Given the description of an element on the screen output the (x, y) to click on. 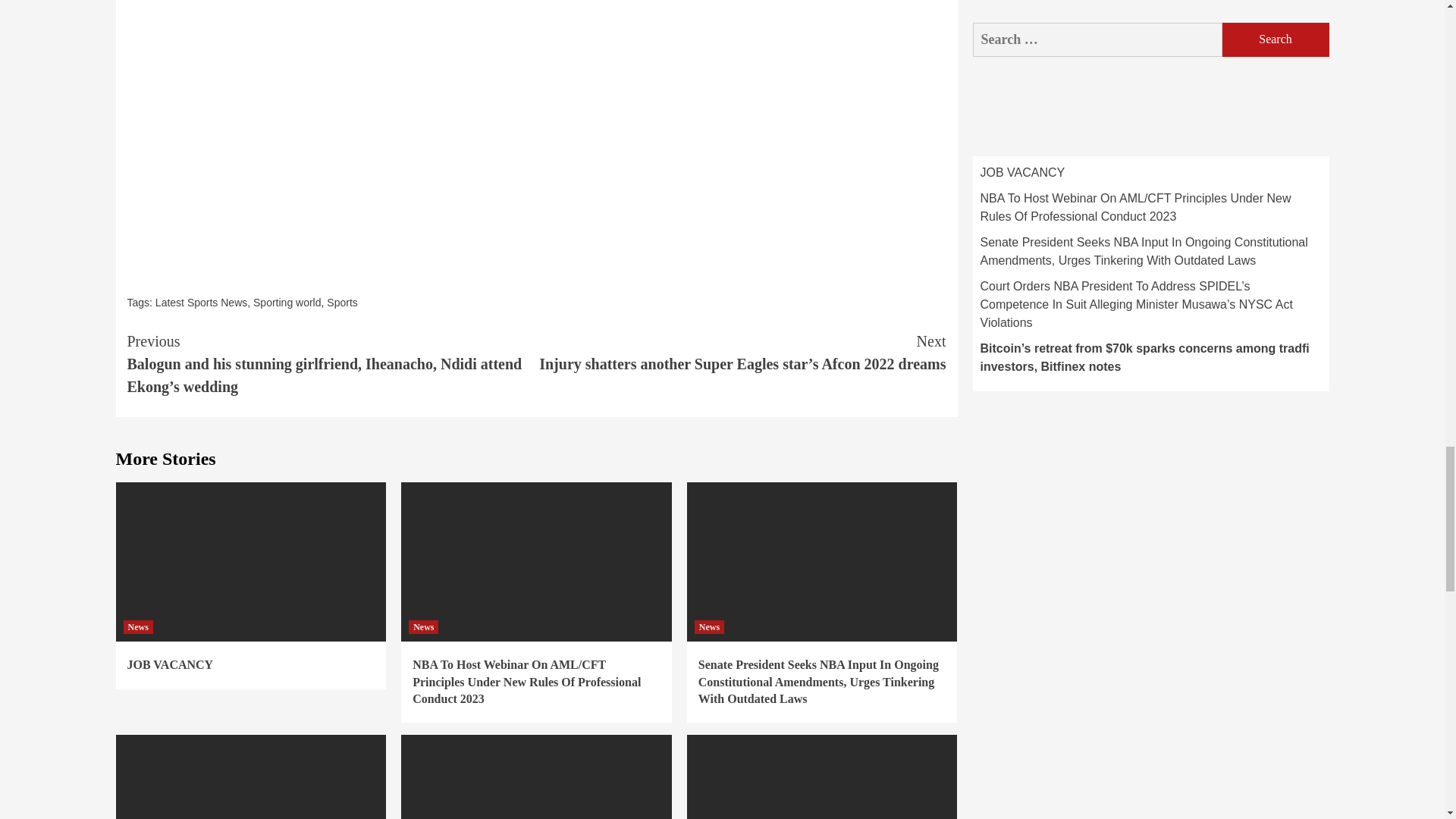
News (423, 626)
JOB VACANCY (171, 664)
News (137, 626)
Sporting world (287, 302)
Latest Sports News (201, 302)
Sports (341, 302)
